Given the description of an element on the screen output the (x, y) to click on. 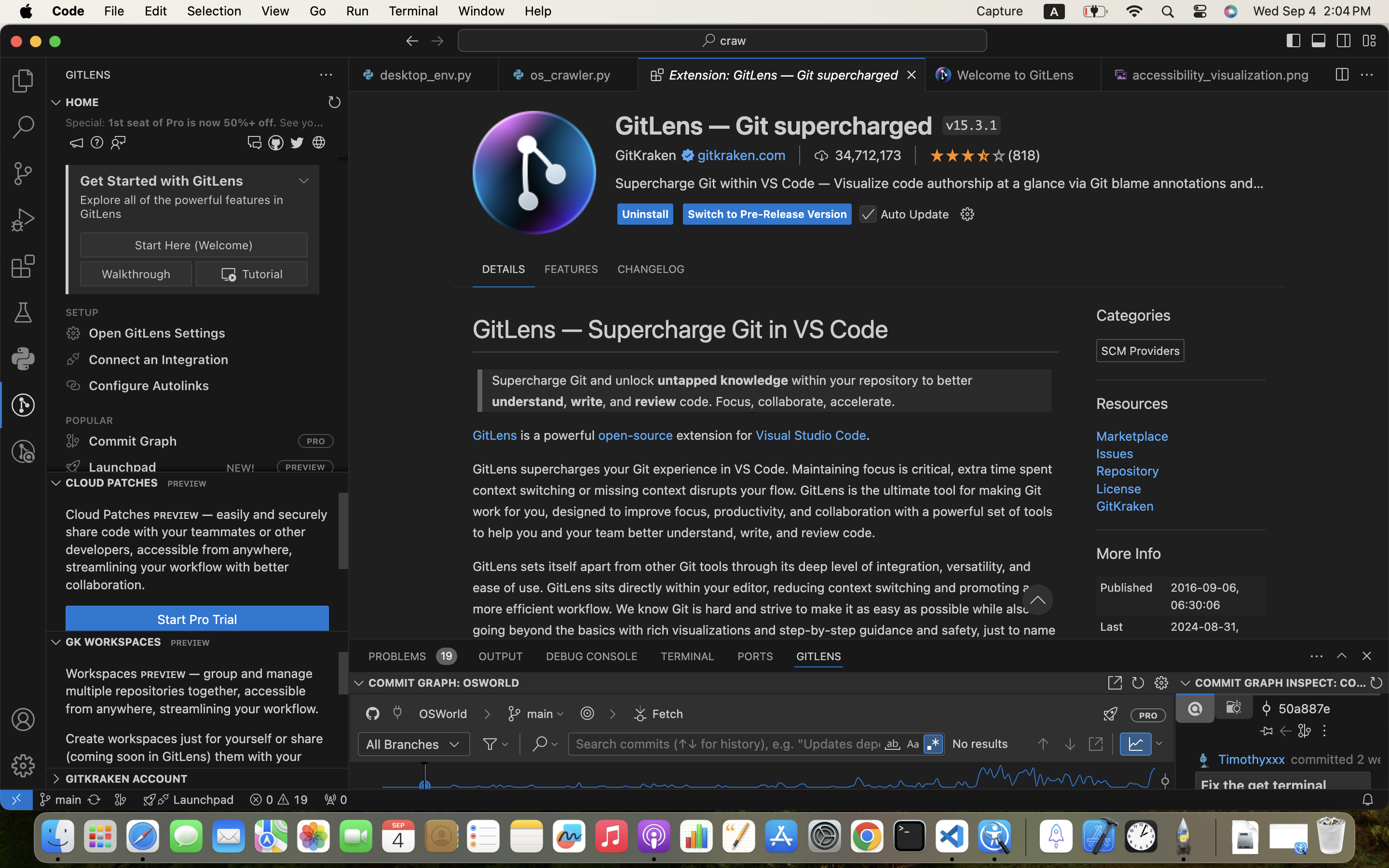
0 TERMINAL Element type: AXRadioButton (687, 655)
 Element type: AXStaticText (1132, 281)
 Element type: AXButton (437, 40)
 Element type: AXButton (1137, 682)
SCM Providers Element type: AXGroup (1140, 350)
